Given the description of an element on the screen output the (x, y) to click on. 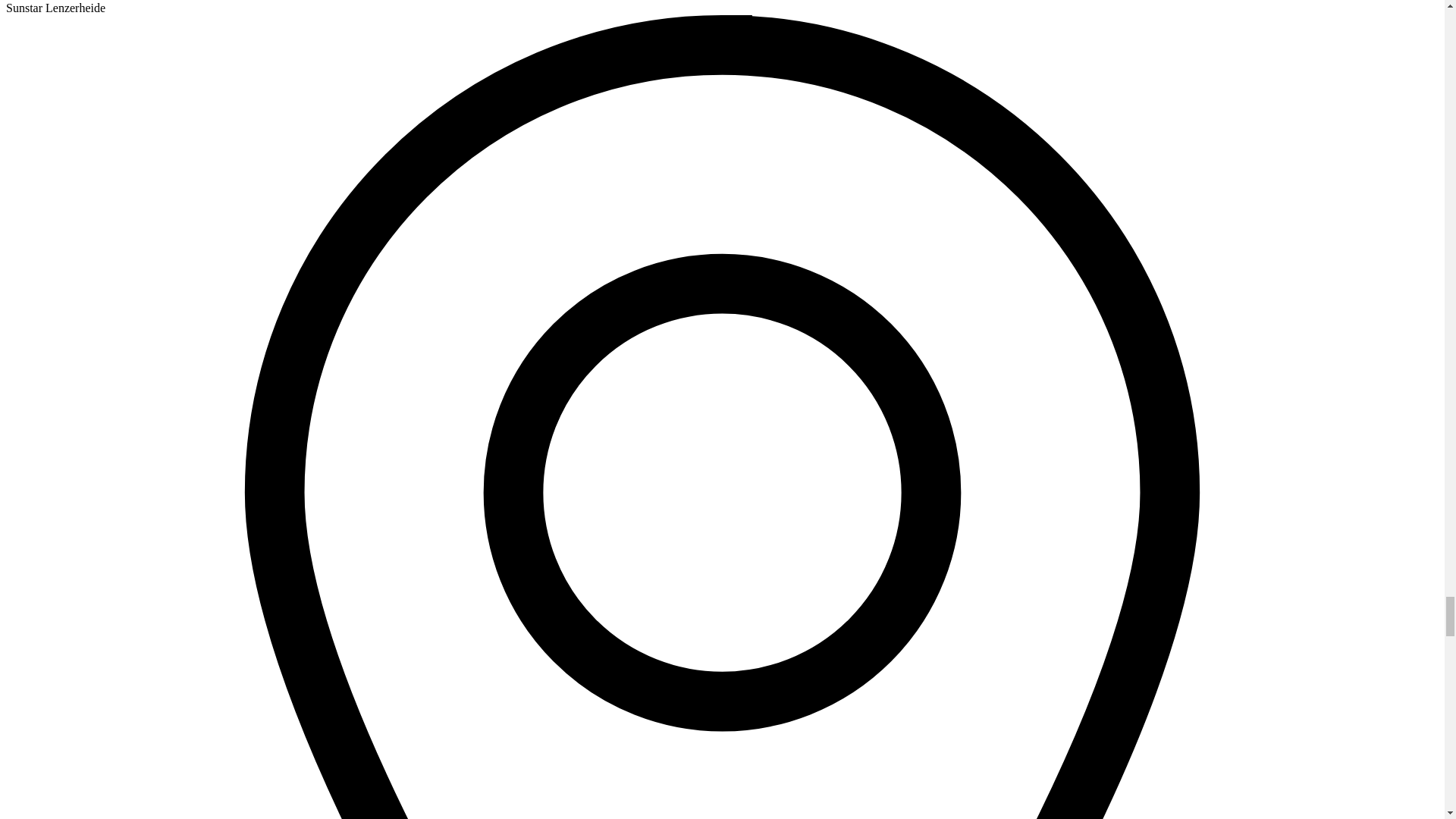
Swiss Hotel Collection (68, 0)
